Given the description of an element on the screen output the (x, y) to click on. 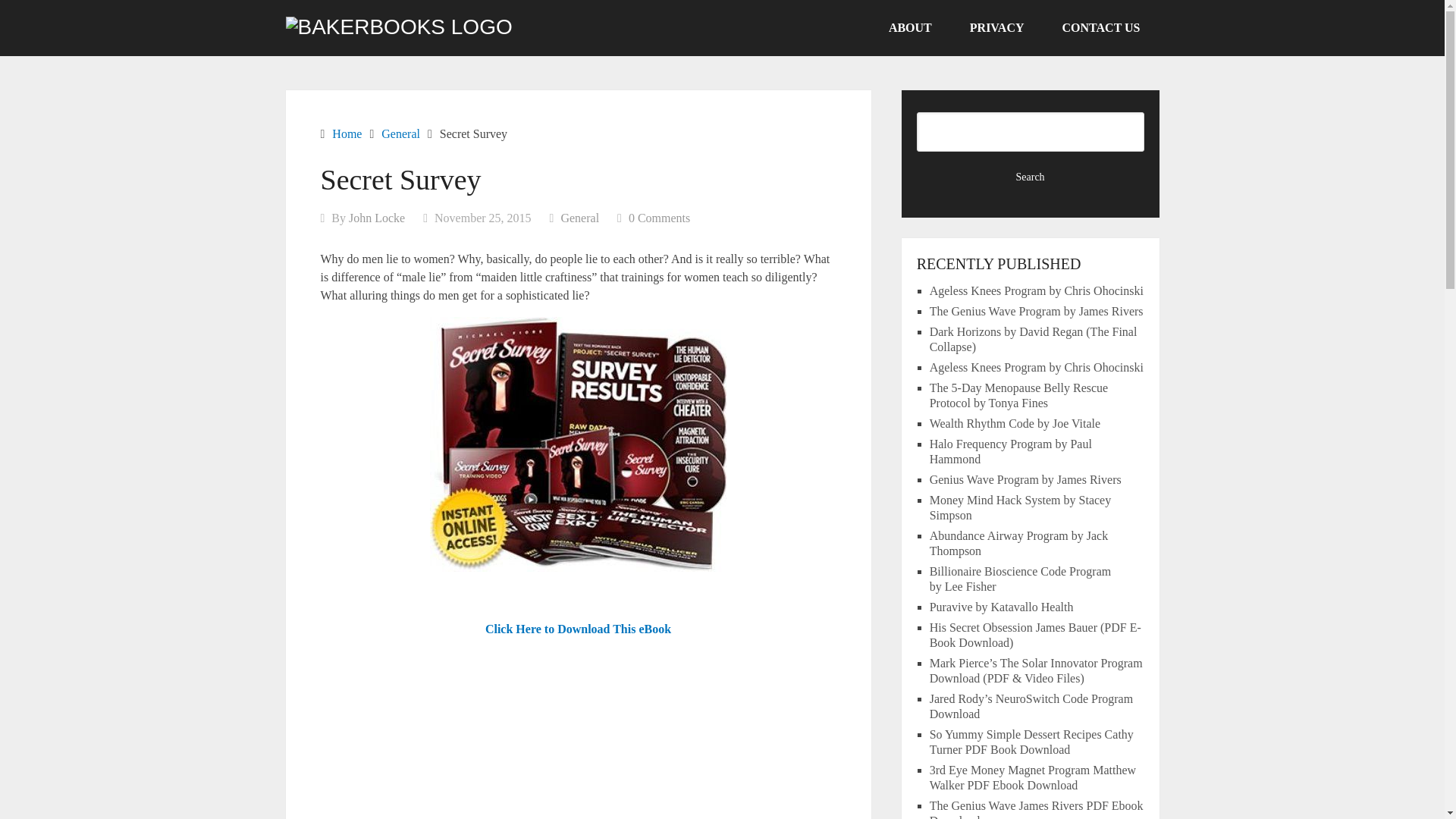
The Genius Wave James Rivers PDF Ebook Download (1036, 809)
The Genius Wave Program by James Rivers (1036, 310)
Money Mind Hack System by Stacey Simpson (1021, 507)
Billionaire Bioscience Code Program by Lee Fisher (1021, 578)
John Locke (376, 217)
Posts by John Locke (376, 217)
ABOUT (909, 28)
General (400, 133)
Search (1030, 176)
PRIVACY (996, 28)
